Given the description of an element on the screen output the (x, y) to click on. 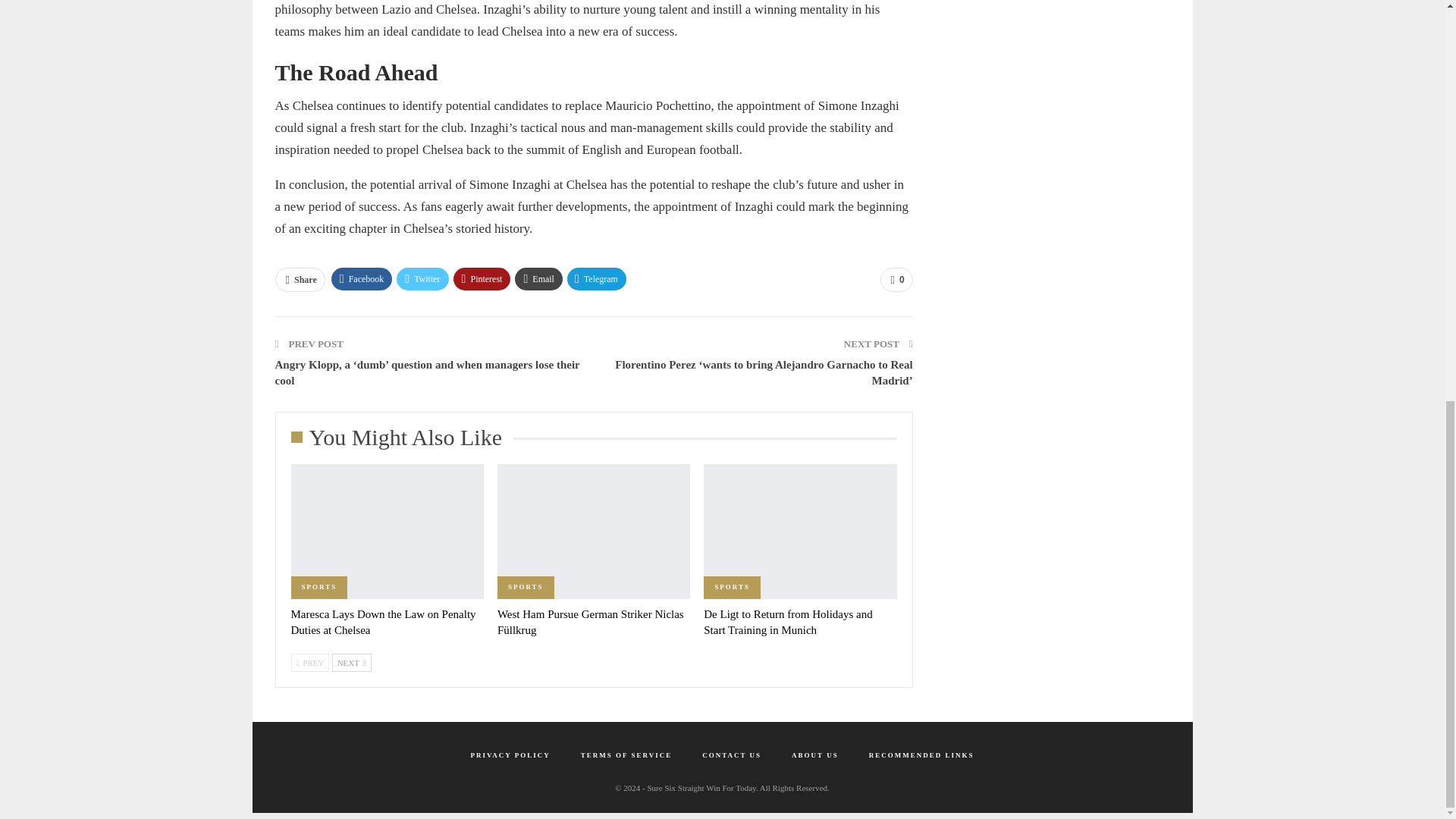
SPORTS (319, 587)
Maresca Lays Down the Law on Penalty Duties at Chelsea (383, 622)
You Might Also Like (402, 440)
Next (351, 662)
PREV (310, 662)
Previous (310, 662)
Maresca Lays Down the Law on Penalty Duties at Chelsea (383, 622)
Maresca Lays Down the Law on Penalty Duties at Chelsea (387, 531)
De Ligt to Return from Holidays and Start Training in Munich (787, 622)
SPORTS (525, 587)
Email (538, 278)
Pinterest (481, 278)
De Ligt to Return from Holidays and Start Training in Munich (799, 531)
De Ligt to Return from Holidays and Start Training in Munich (787, 622)
0 (896, 279)
